Given the description of an element on the screen output the (x, y) to click on. 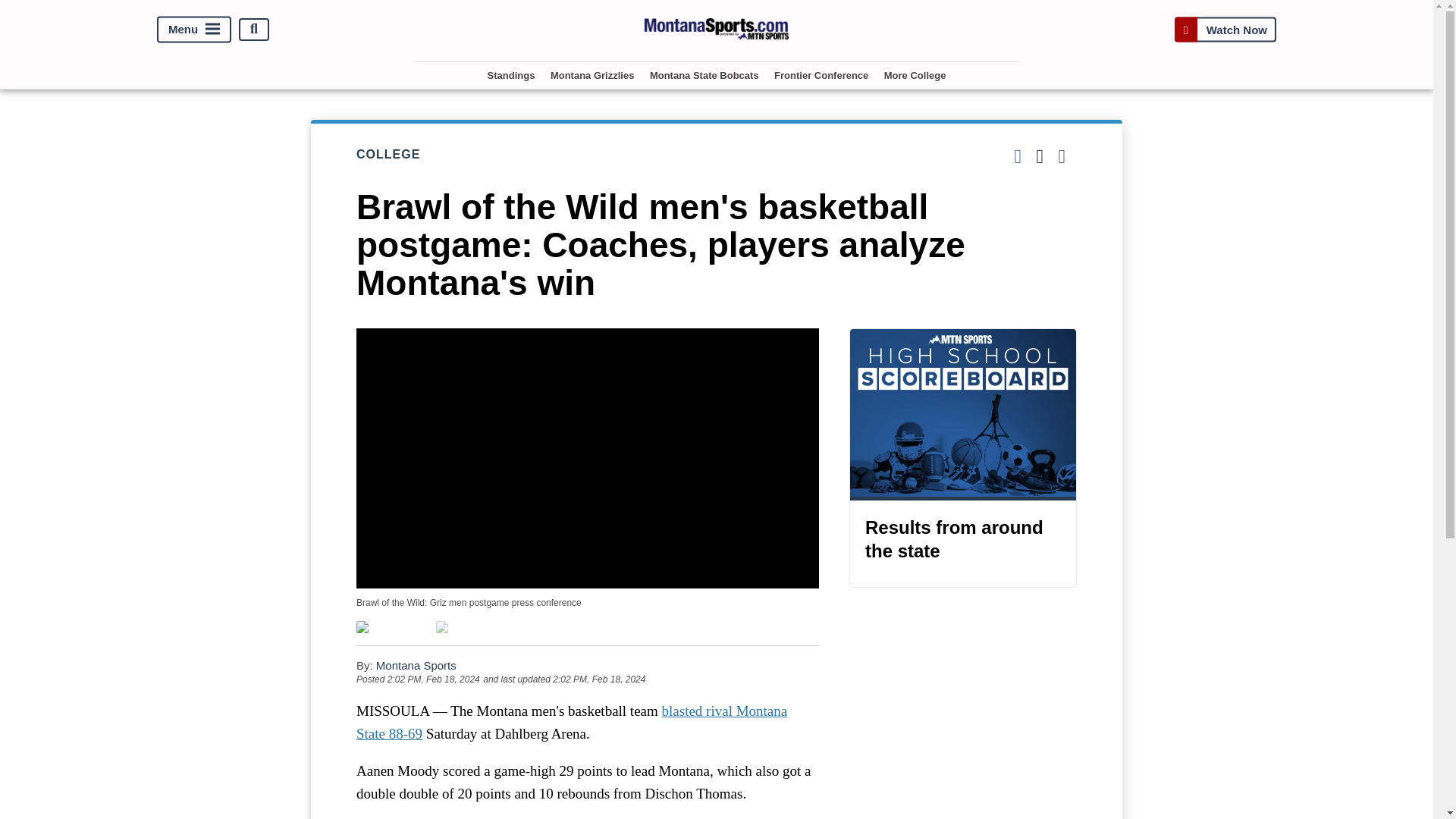
Watch Now (1224, 29)
Menu (194, 28)
